Given the description of an element on the screen output the (x, y) to click on. 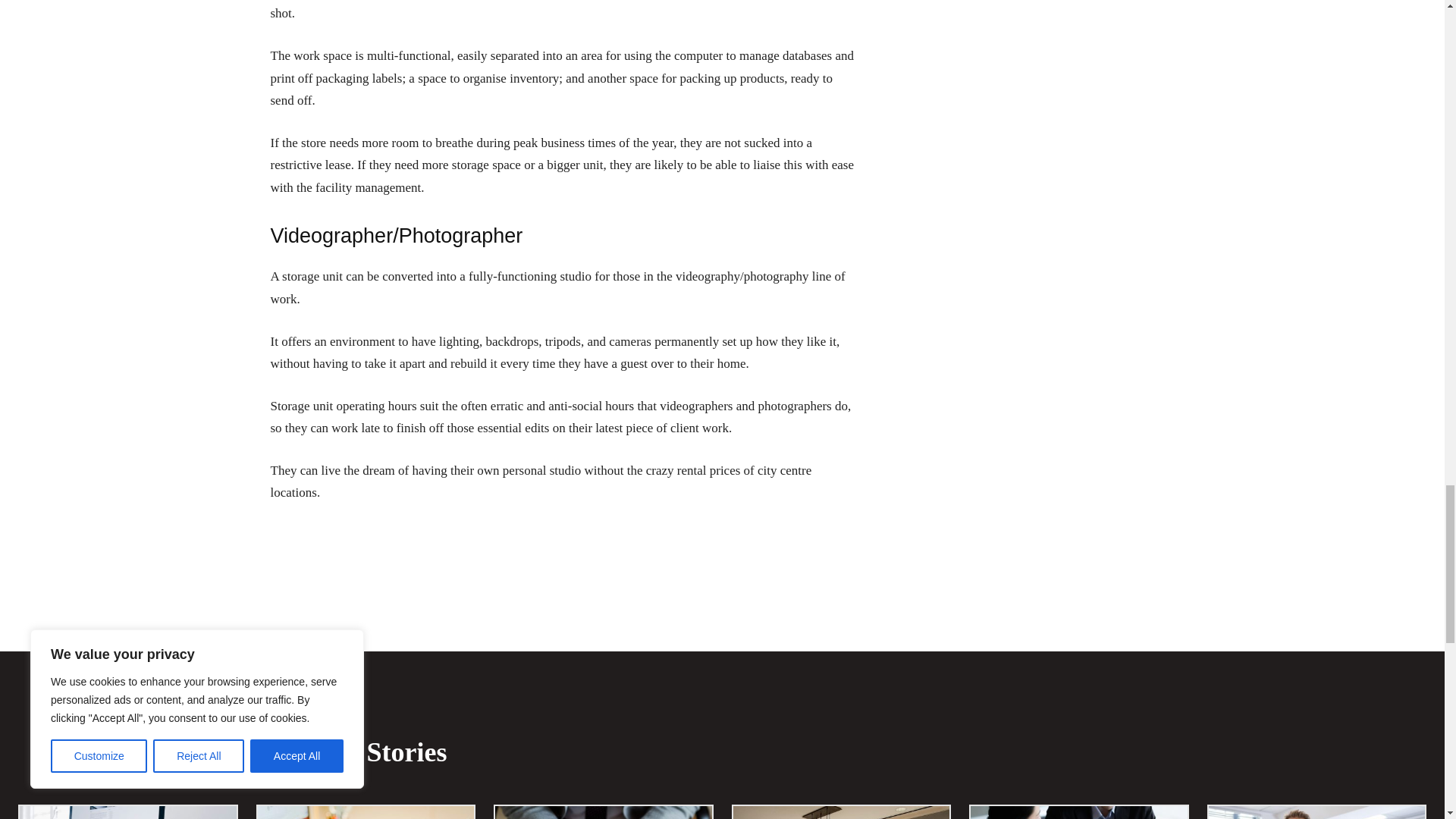
Where to Hire Workday Consultants and SAP Consultants (127, 812)
